Given the description of an element on the screen output the (x, y) to click on. 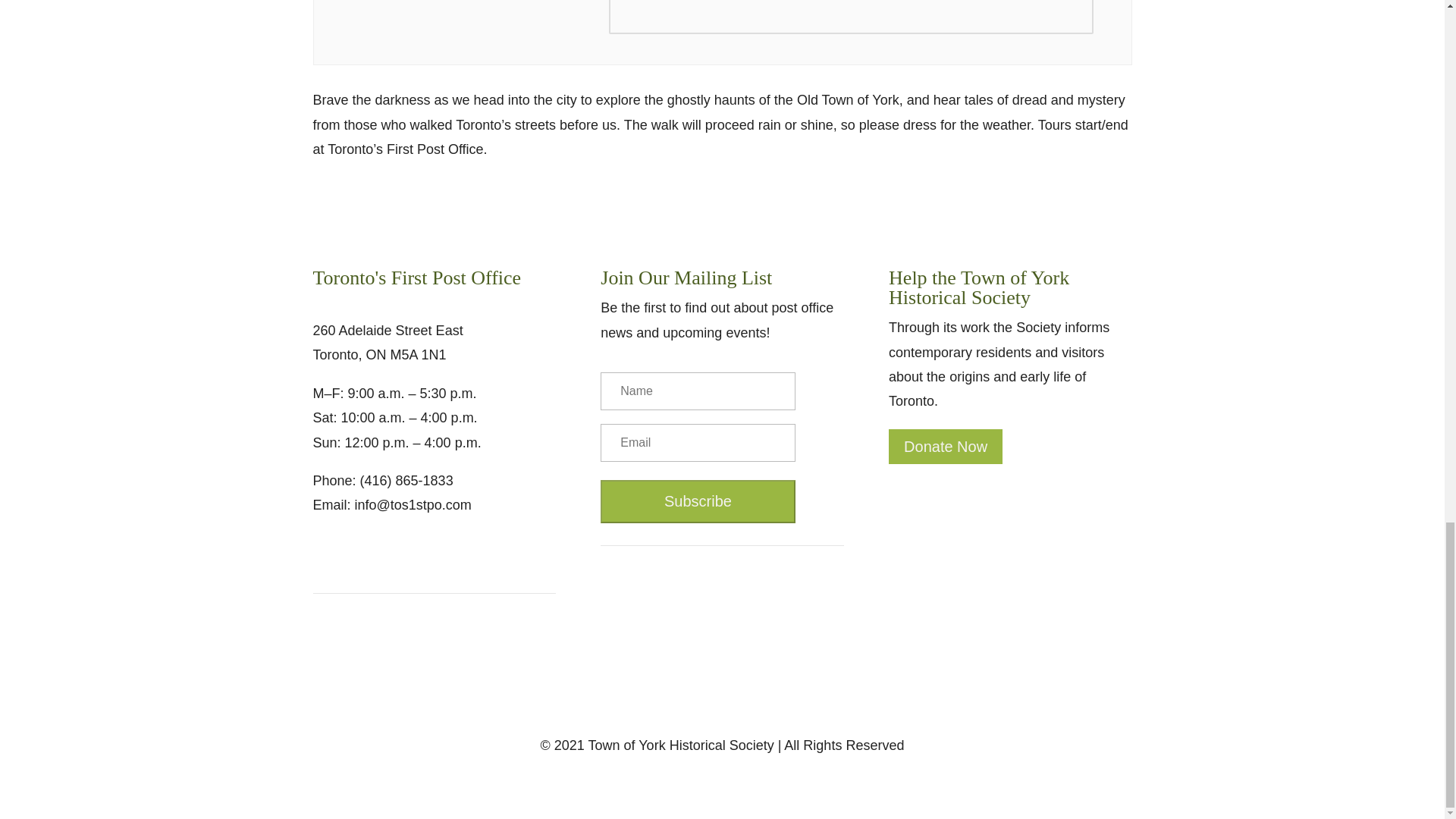
Follow on Facebook (324, 551)
Donate Now (945, 446)
Follow on Instagram (384, 551)
Subscribe (696, 501)
Subscribe (696, 501)
Follow on Twitter (354, 551)
